Given the description of an element on the screen output the (x, y) to click on. 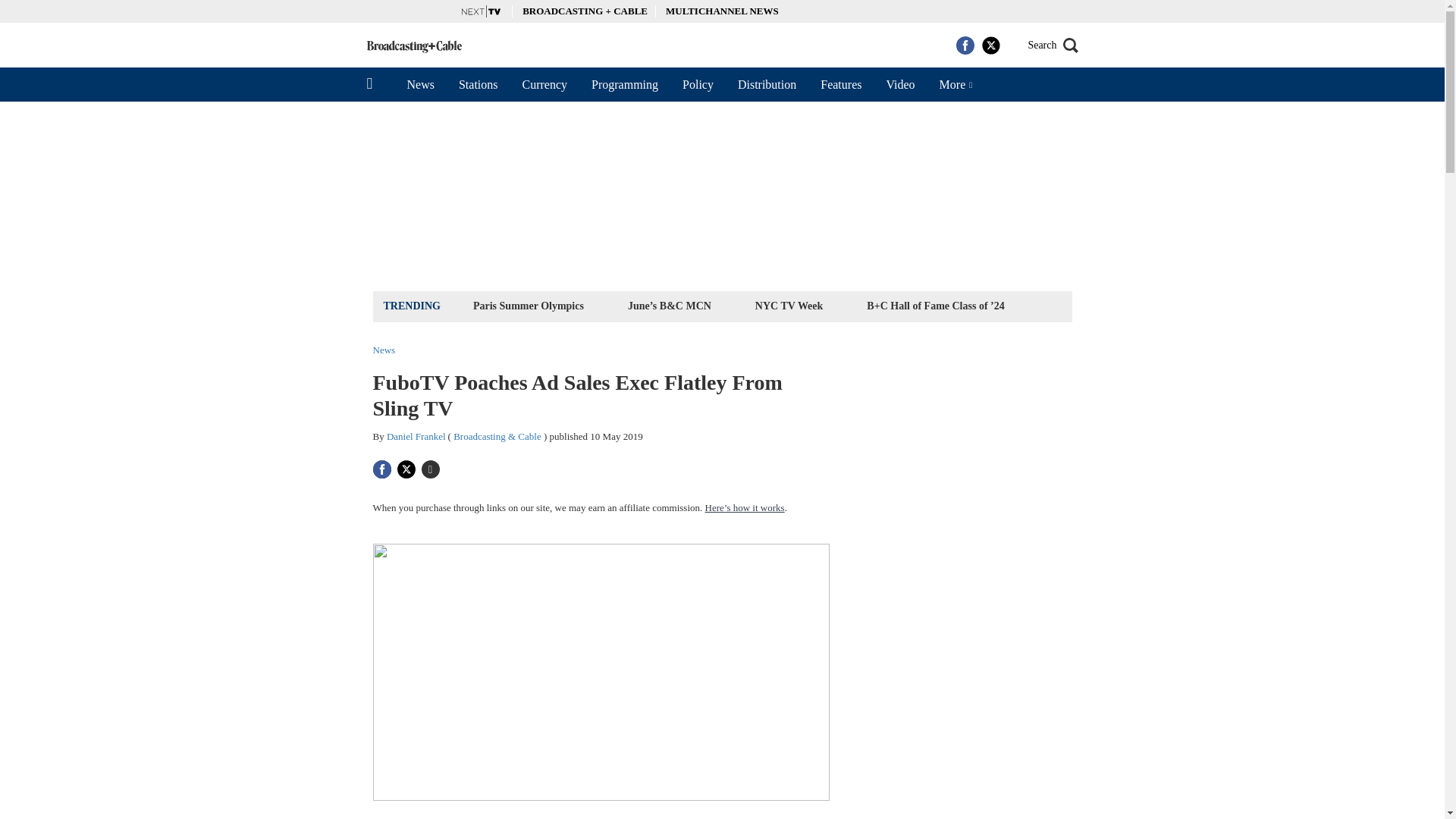
Features (840, 84)
MULTICHANNEL NEWS (721, 10)
Programming (624, 84)
Paris Summer Olympics (528, 305)
Currency (544, 84)
NYC TV Week (788, 305)
Daniel Frankel (416, 436)
Video (899, 84)
Stations (478, 84)
Distribution (766, 84)
Policy (697, 84)
News (419, 84)
News (384, 349)
